Given the description of an element on the screen output the (x, y) to click on. 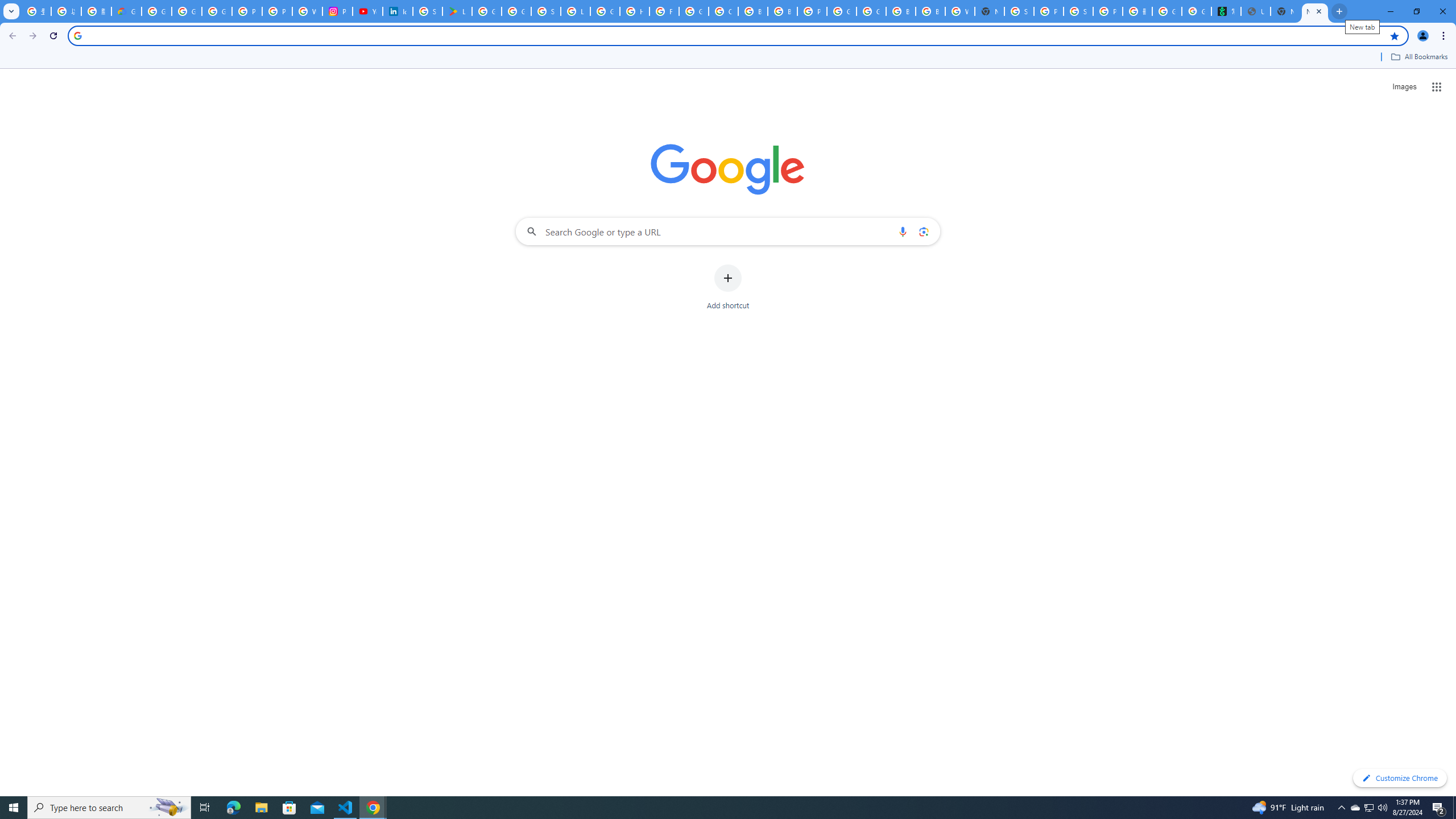
Google Cloud Platform (841, 11)
Google Workspace - Specific Terms (515, 11)
Sign in - Google Accounts (545, 11)
